Given the description of an element on the screen output the (x, y) to click on. 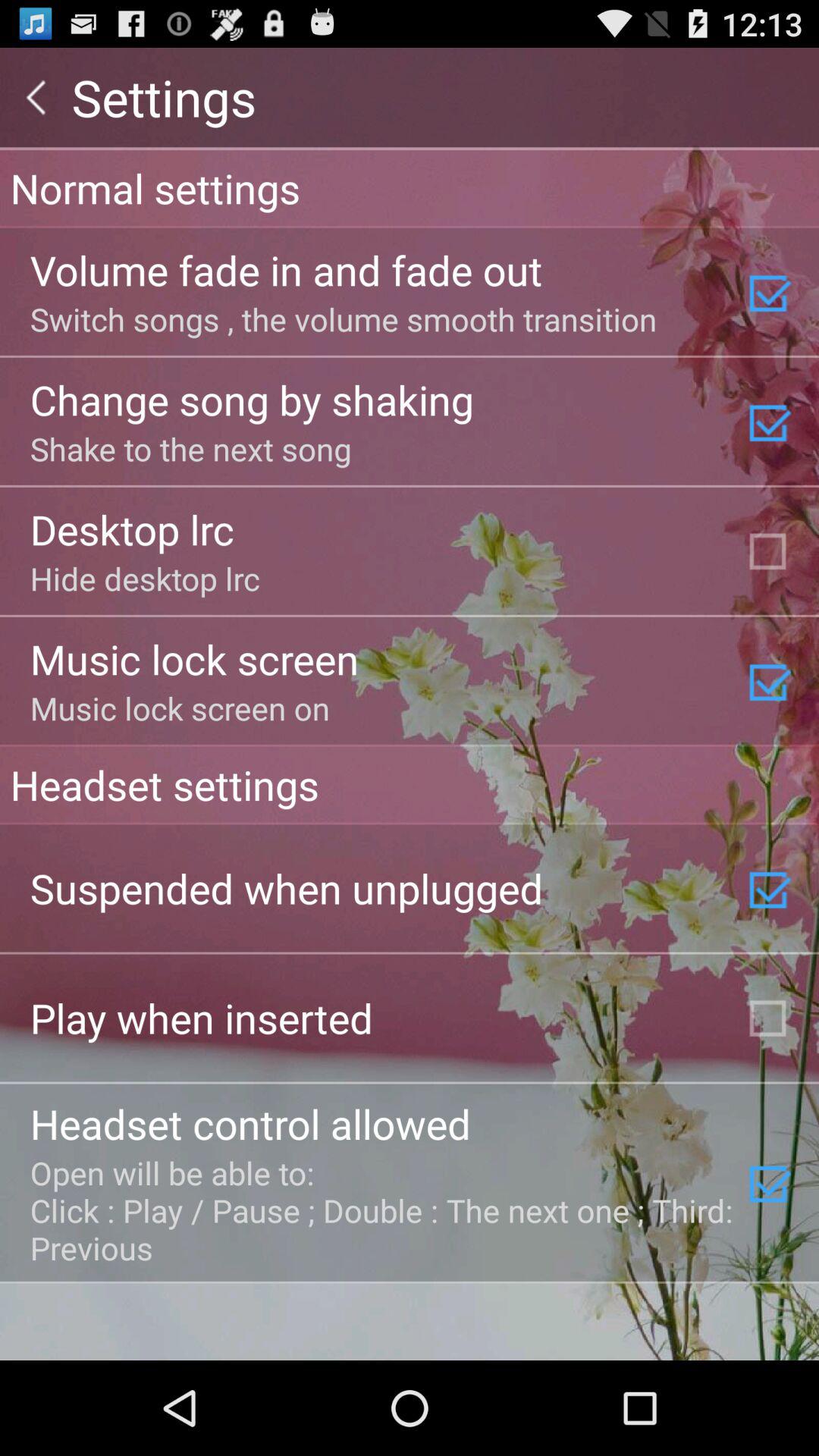
tap item above suspended when unplugged item (409, 784)
